Given the description of an element on the screen output the (x, y) to click on. 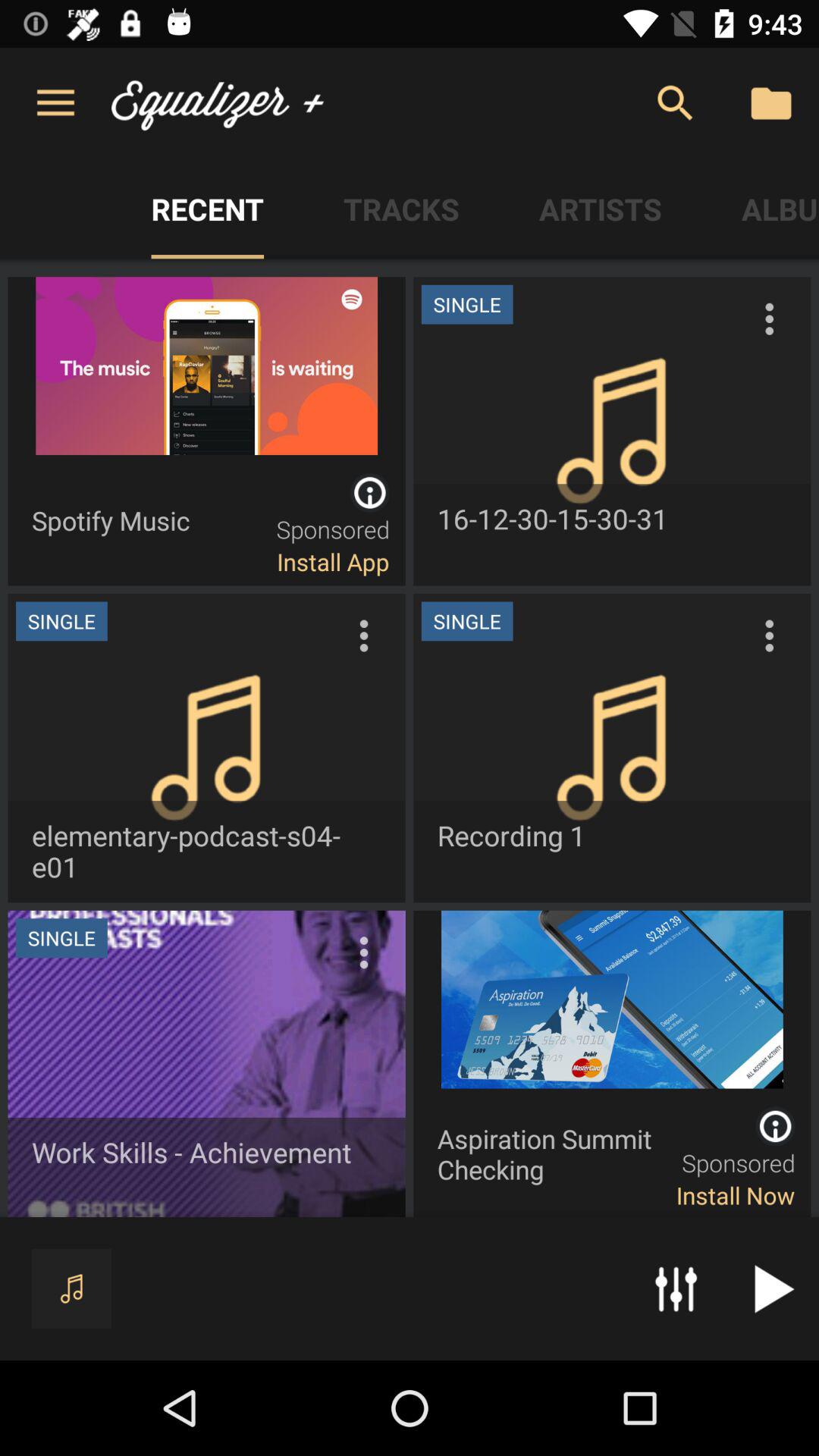
click on recording 1 (612, 748)
select the tab tracks on the web page (401, 208)
tap on the search icon at the top right corner (675, 103)
click on the button which is left side of the tracks (207, 208)
click on the button which is next to music button (675, 1288)
the three vertical dot icon shown on the first right image from the top (769, 318)
